Given the description of an element on the screen output the (x, y) to click on. 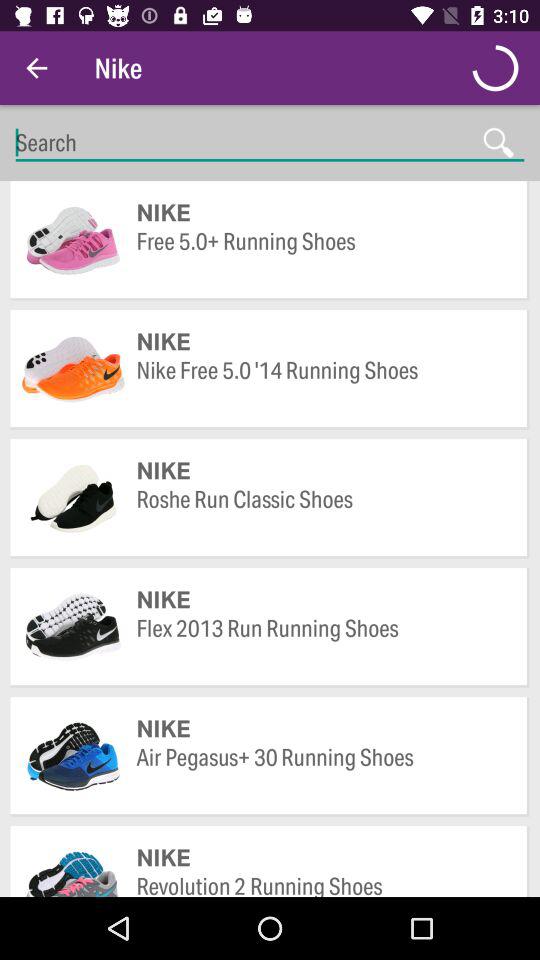
swipe to the roshe run classic (322, 514)
